Given the description of an element on the screen output the (x, y) to click on. 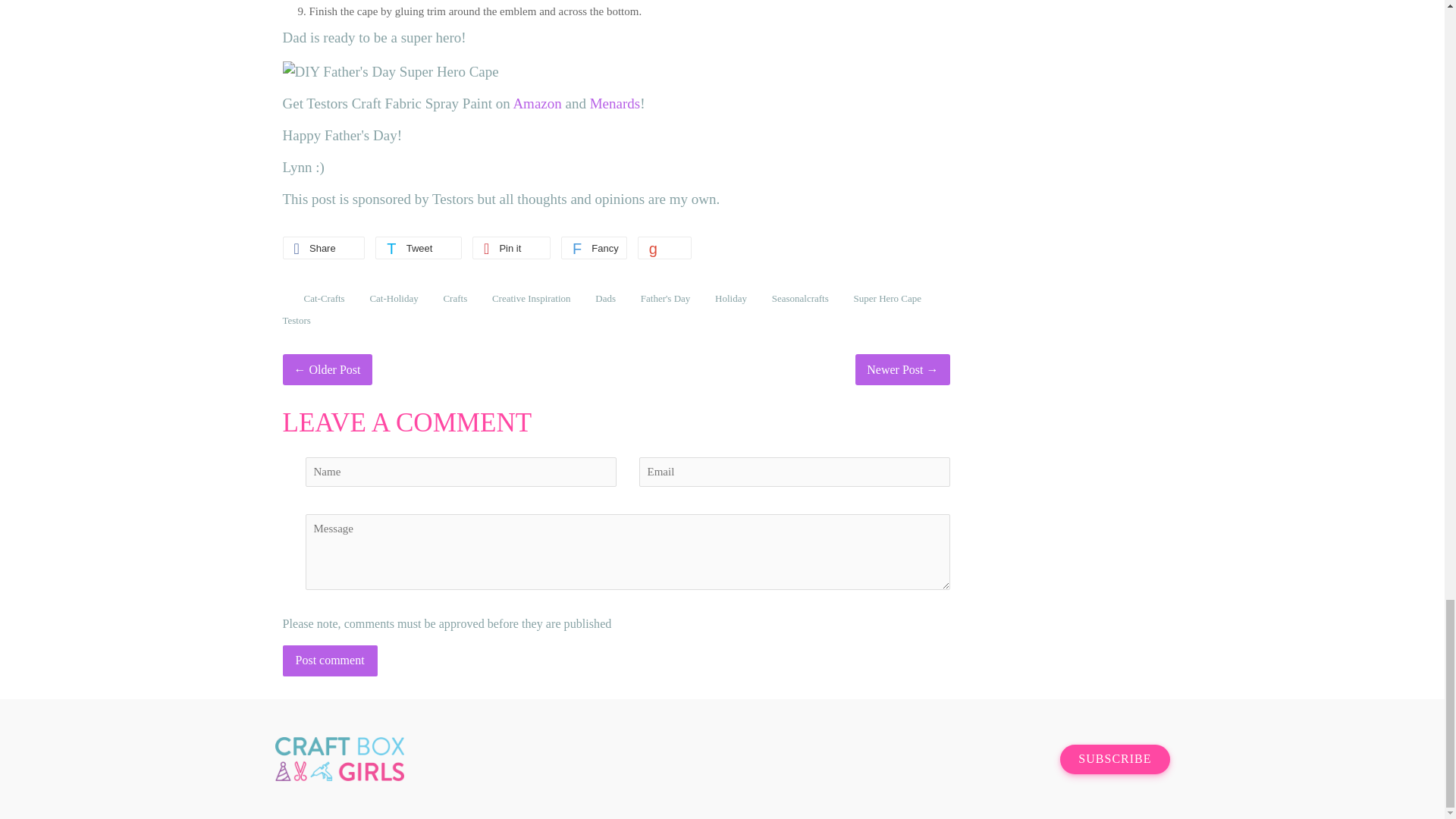
Craft Box Girls on Pinterest (1010, 759)
Craft Box Girls on YouTube (1036, 759)
Post comment (329, 660)
Craft Box Girls on Facebook (959, 759)
Craft Box Girls on Instagram (985, 759)
